Given the description of an element on the screen output the (x, y) to click on. 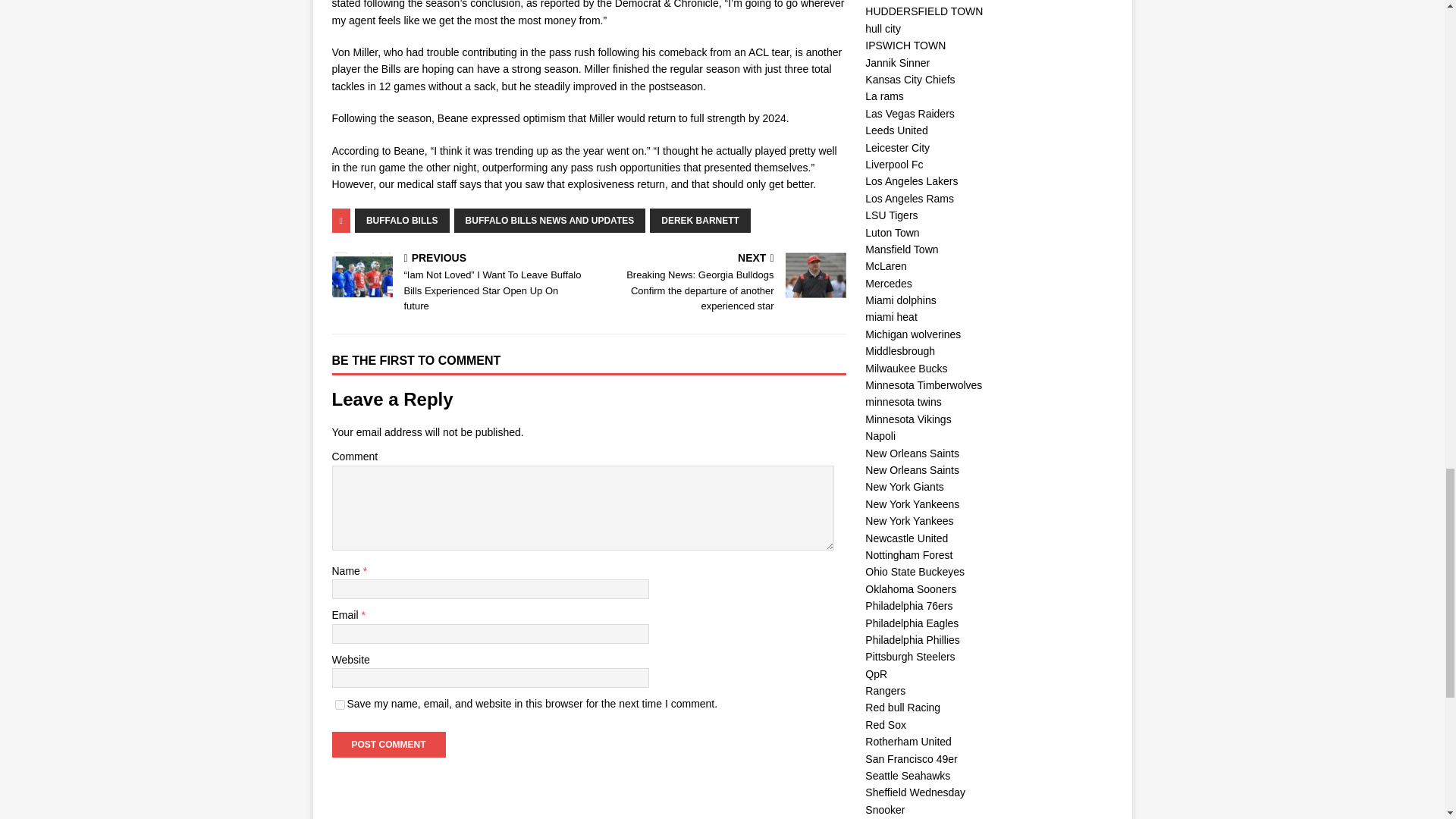
Post Comment (388, 744)
DEREK BARNETT (700, 220)
BUFFALO BILLS (402, 220)
yes (339, 705)
Post Comment (388, 744)
BUFFALO BILLS NEWS AND UPDATES (550, 220)
